Given the description of an element on the screen output the (x, y) to click on. 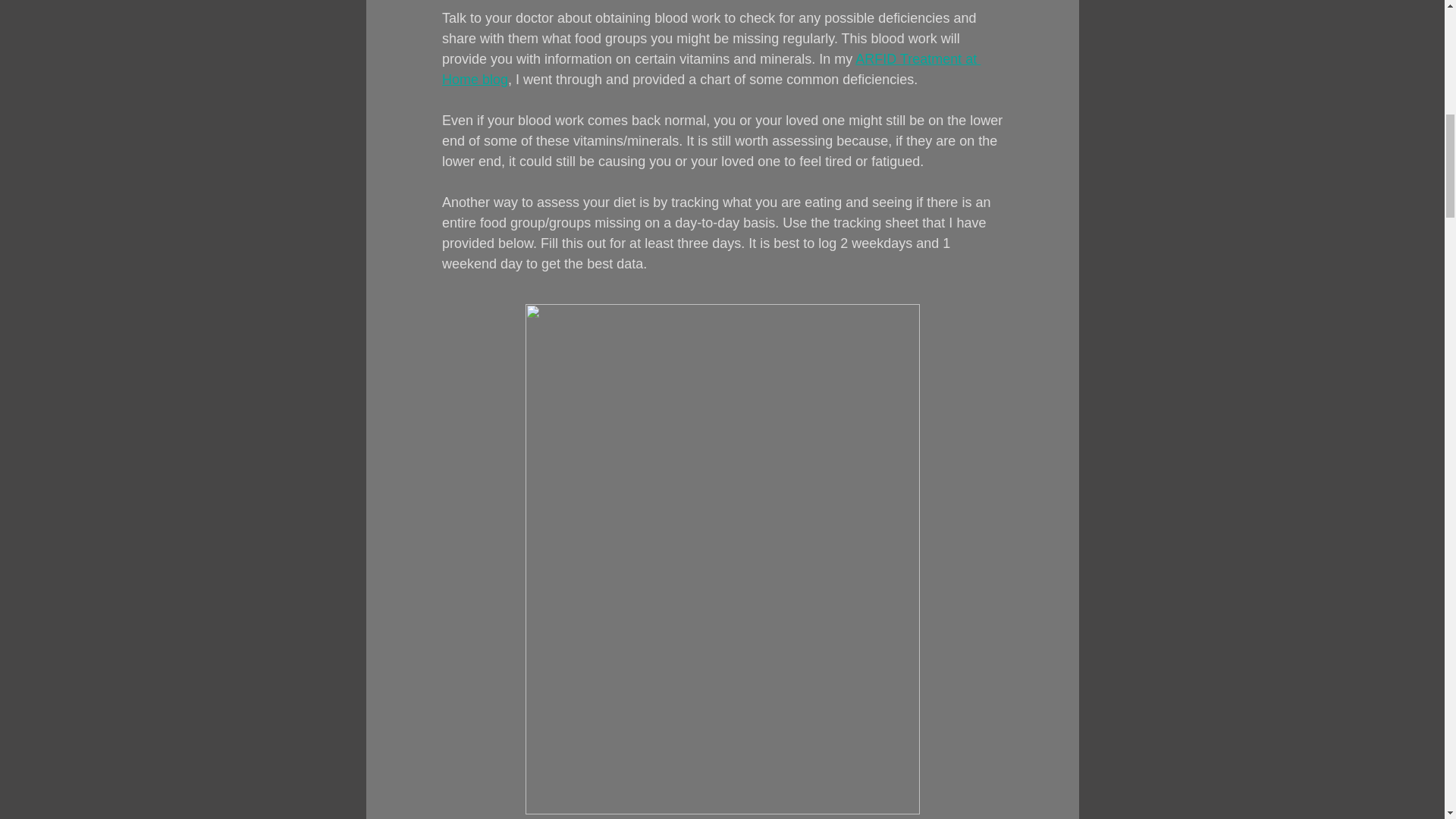
ARFID Treatment at Home blog (710, 68)
